Given the description of an element on the screen output the (x, y) to click on. 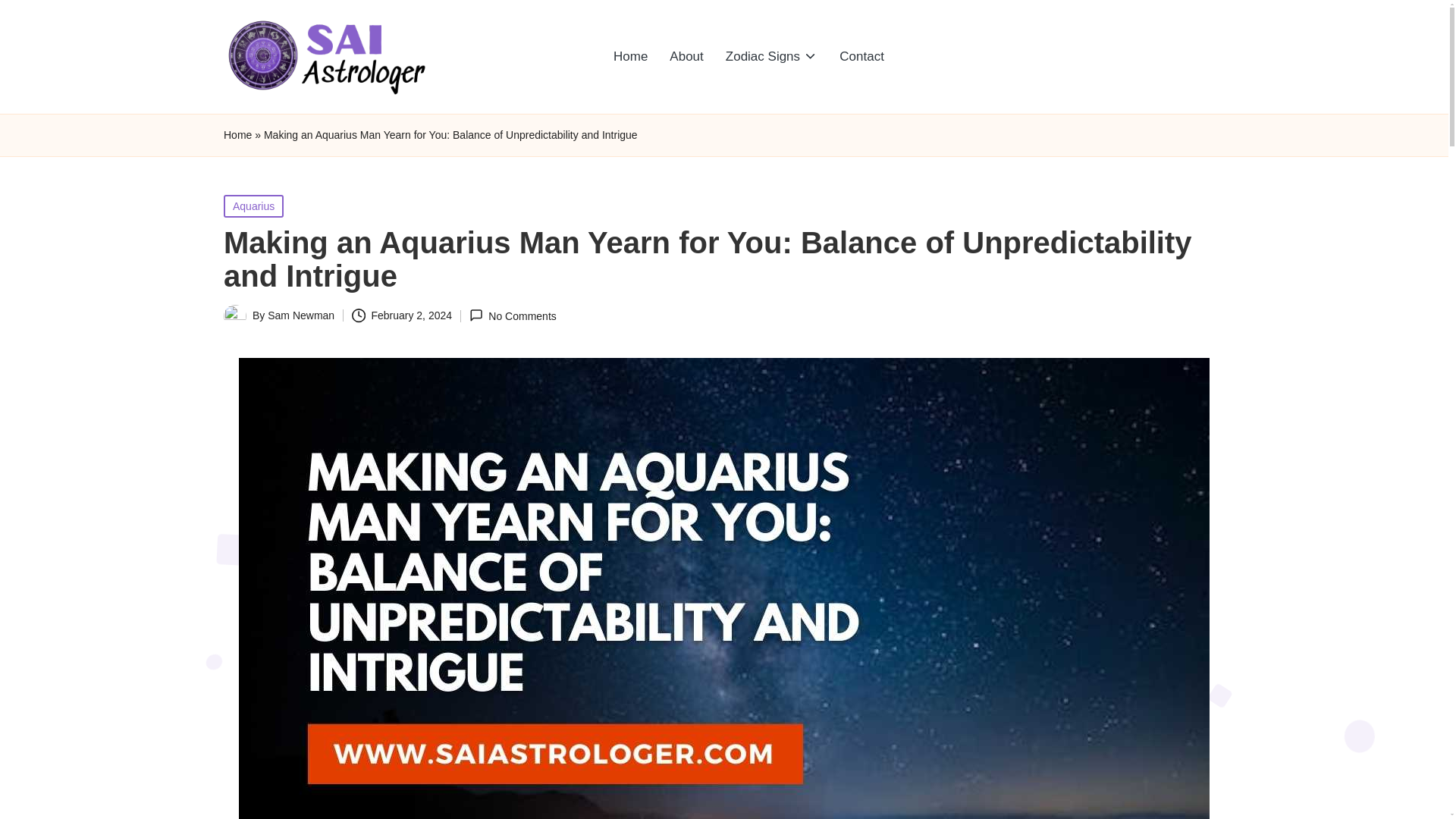
Sam Newman (300, 315)
View all posts by Sam Newman (300, 315)
Home (630, 56)
Home (237, 135)
Zodiac Signs (771, 56)
About (686, 56)
Contact (861, 56)
Aquarius (253, 205)
